Given the description of an element on the screen output the (x, y) to click on. 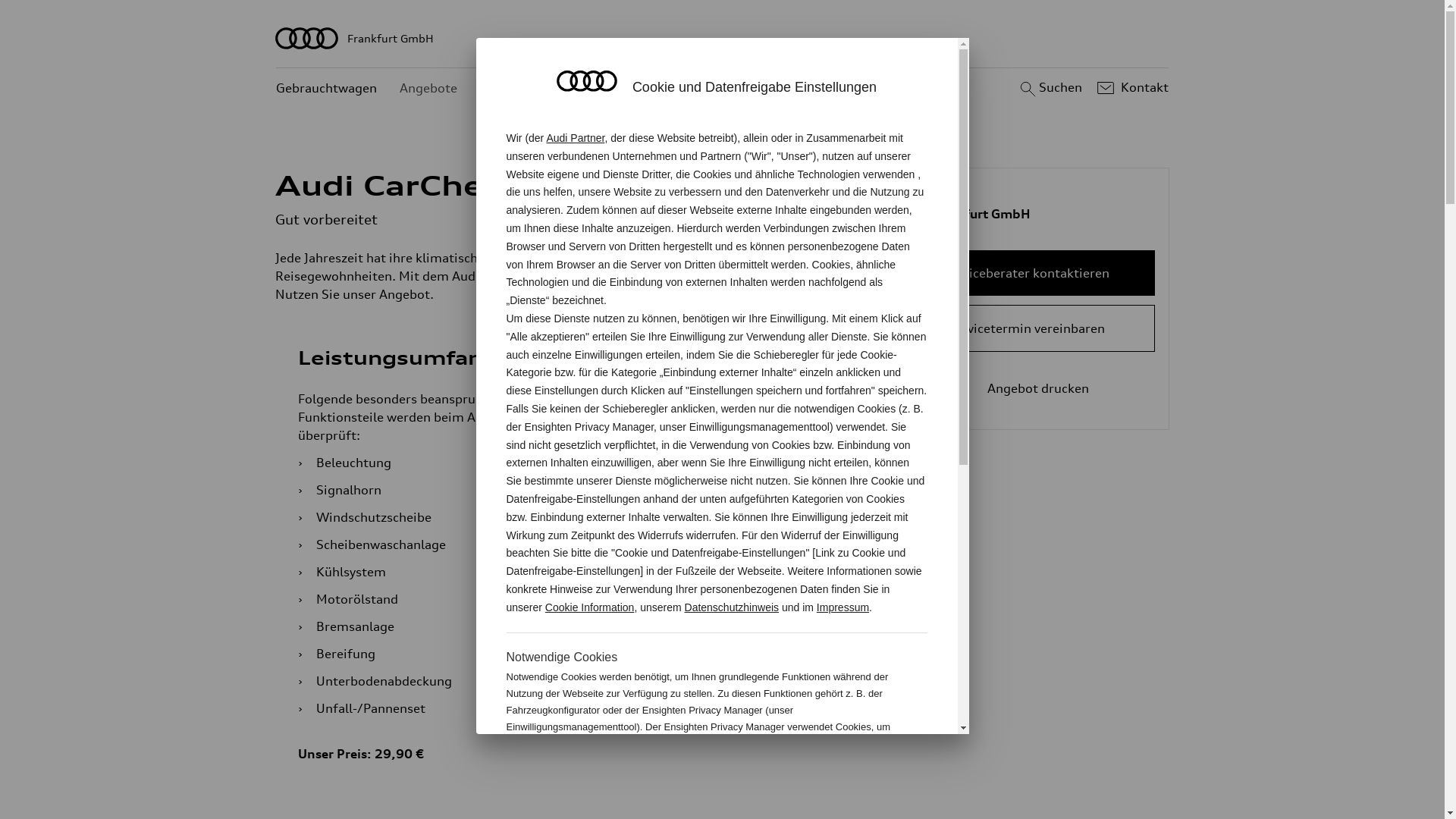
Audi on demand Element type: text (528, 88)
Impressum Element type: text (842, 607)
Kundenservice Element type: text (642, 88)
Angebot drucken Element type: text (1026, 388)
Datenschutzhinweis Element type: text (731, 607)
Cookie Information Element type: text (847, 776)
Servicetermin vereinbaren Element type: text (1025, 327)
Kontakt Element type: text (1130, 87)
Angebote Element type: text (428, 88)
Serviceberater kontaktieren Element type: text (1025, 272)
Gebrauchtwagen Element type: text (326, 88)
Frankfurt GmbH Element type: text (722, 38)
Audi Partner Element type: text (575, 137)
Cookie Information Element type: text (589, 607)
Suchen Element type: text (1049, 87)
